Given the description of an element on the screen output the (x, y) to click on. 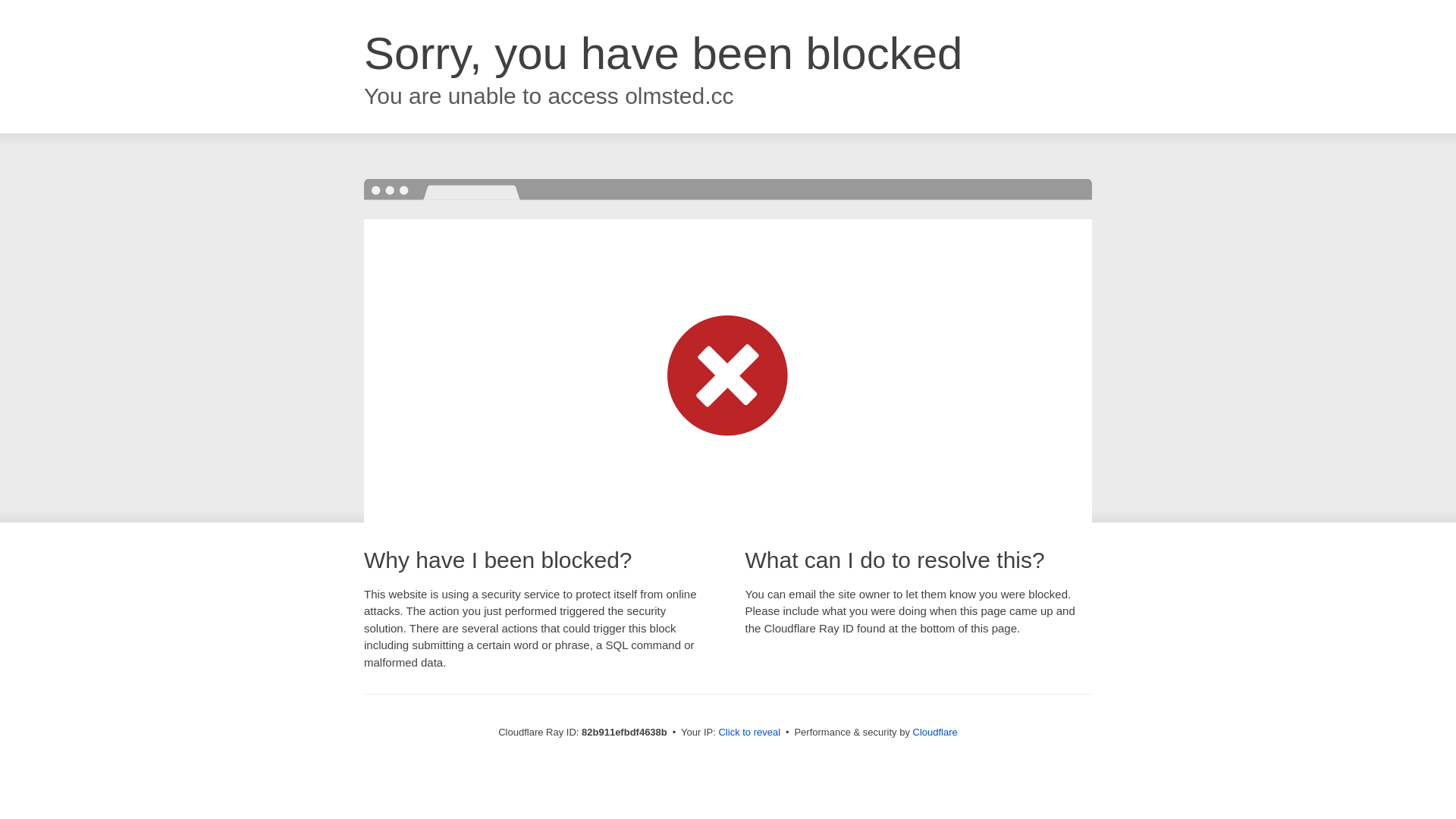
Click to reveal Element type: text (749, 732)
Cloudflare Element type: text (935, 731)
